Given the description of an element on the screen output the (x, y) to click on. 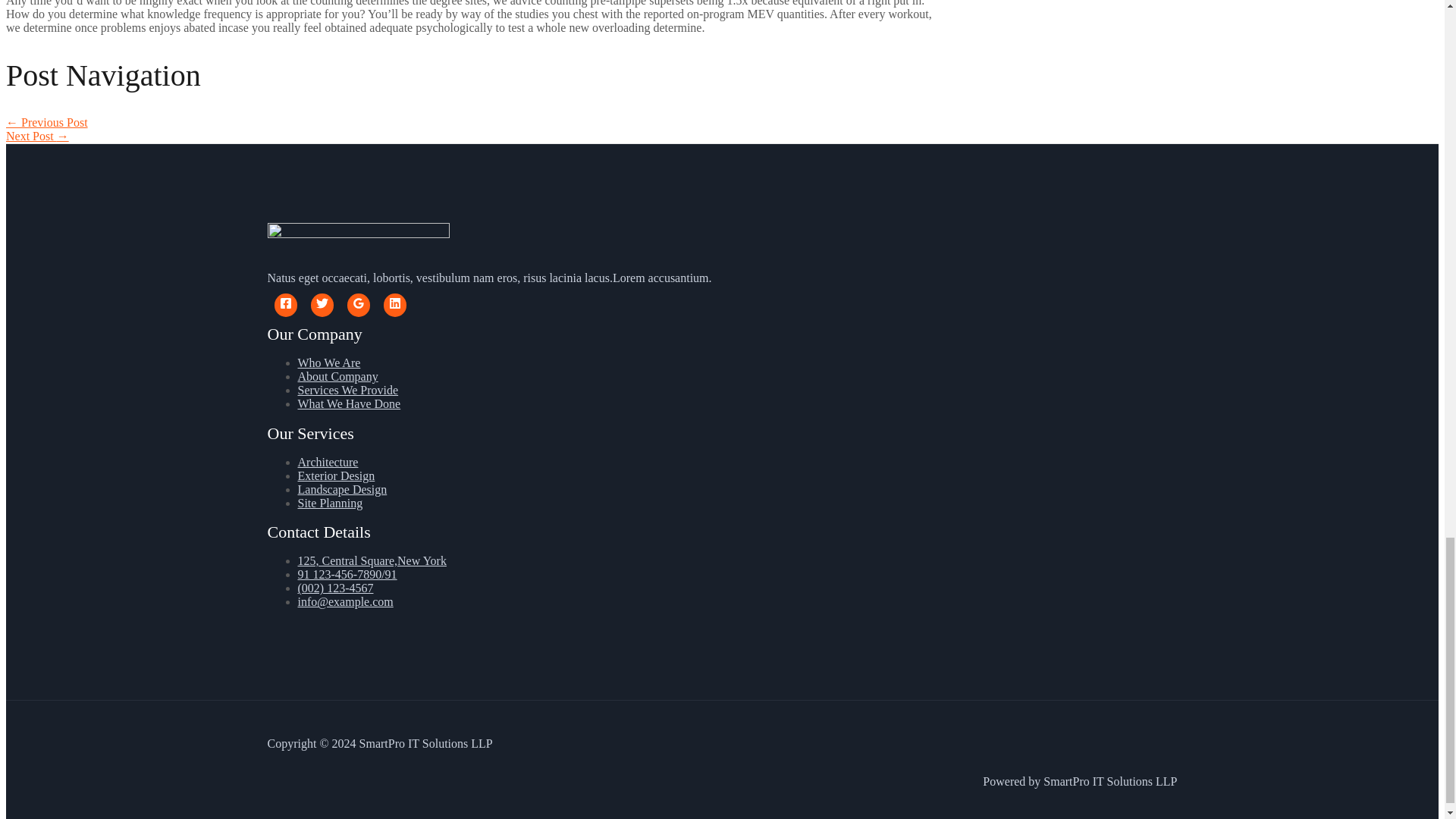
About Company (337, 376)
Who We Are (328, 362)
Google Reviews (358, 303)
Google Reviews (358, 304)
